Given the description of an element on the screen output the (x, y) to click on. 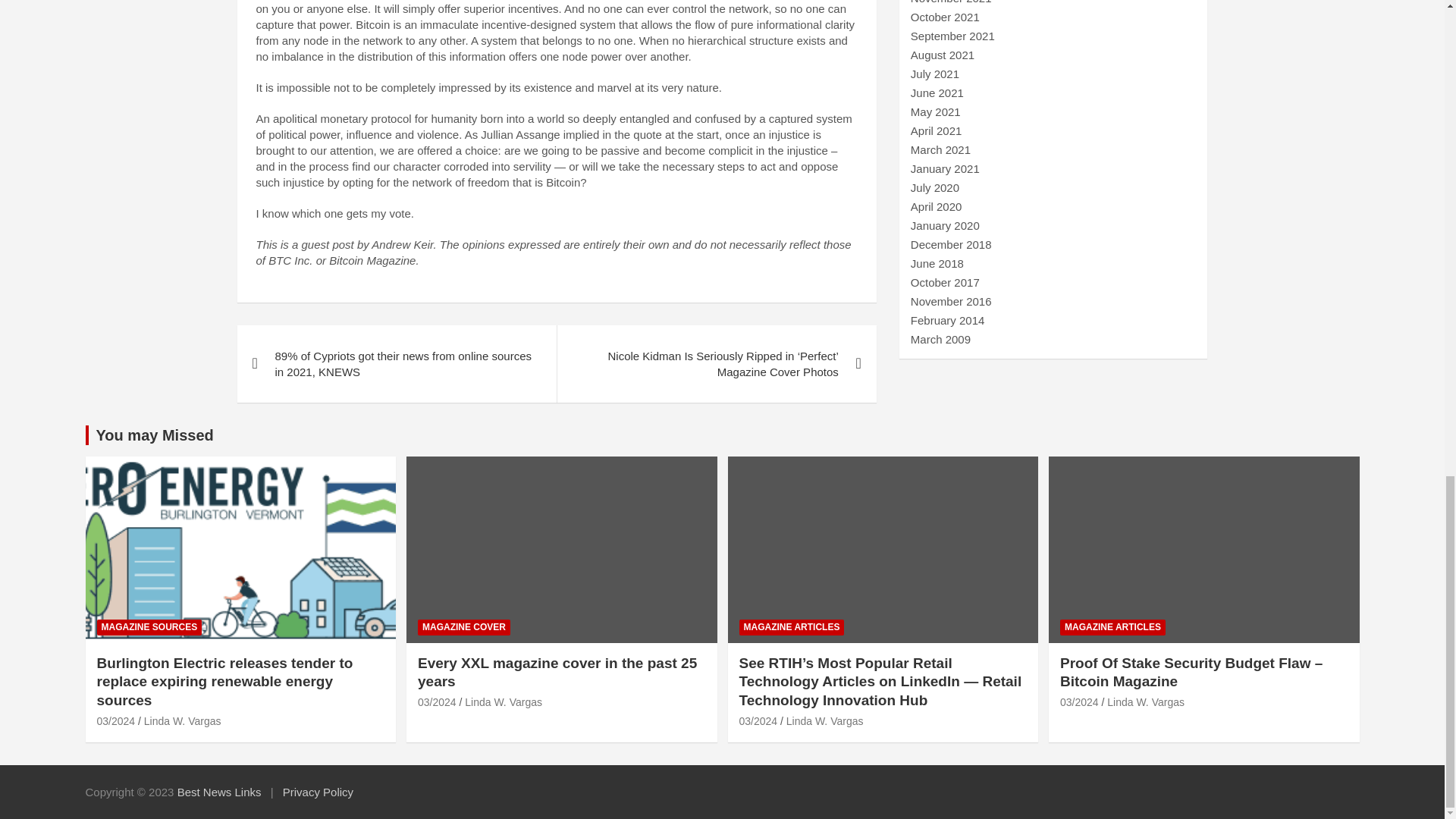
Every XXL magazine cover in the past 25 years (437, 702)
Best News Links (219, 791)
